Given the description of an element on the screen output the (x, y) to click on. 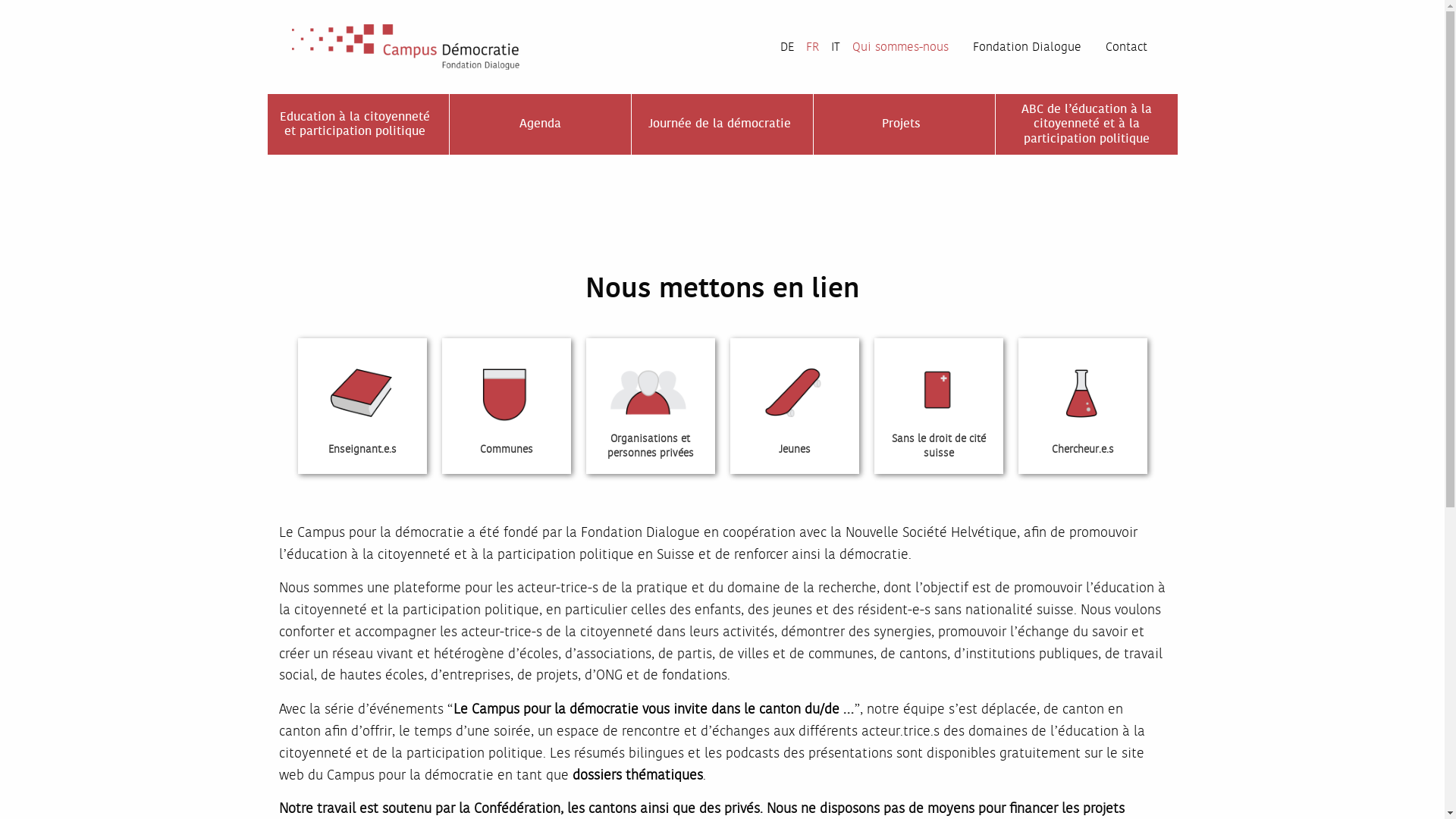
DE Element type: text (786, 47)
Agenda Element type: text (539, 124)
Enseignant.e.s Element type: text (361, 405)
Contact Element type: text (1126, 47)
Fondation Dialogue Element type: text (1032, 47)
Chercheur.e.s Element type: text (1081, 405)
IT Element type: text (835, 47)
FR Element type: text (811, 47)
Qui sommes-nous Element type: text (906, 47)
Jeunes Element type: text (793, 405)
Communes Element type: text (505, 405)
Projets Element type: text (903, 124)
